Given the description of an element on the screen output the (x, y) to click on. 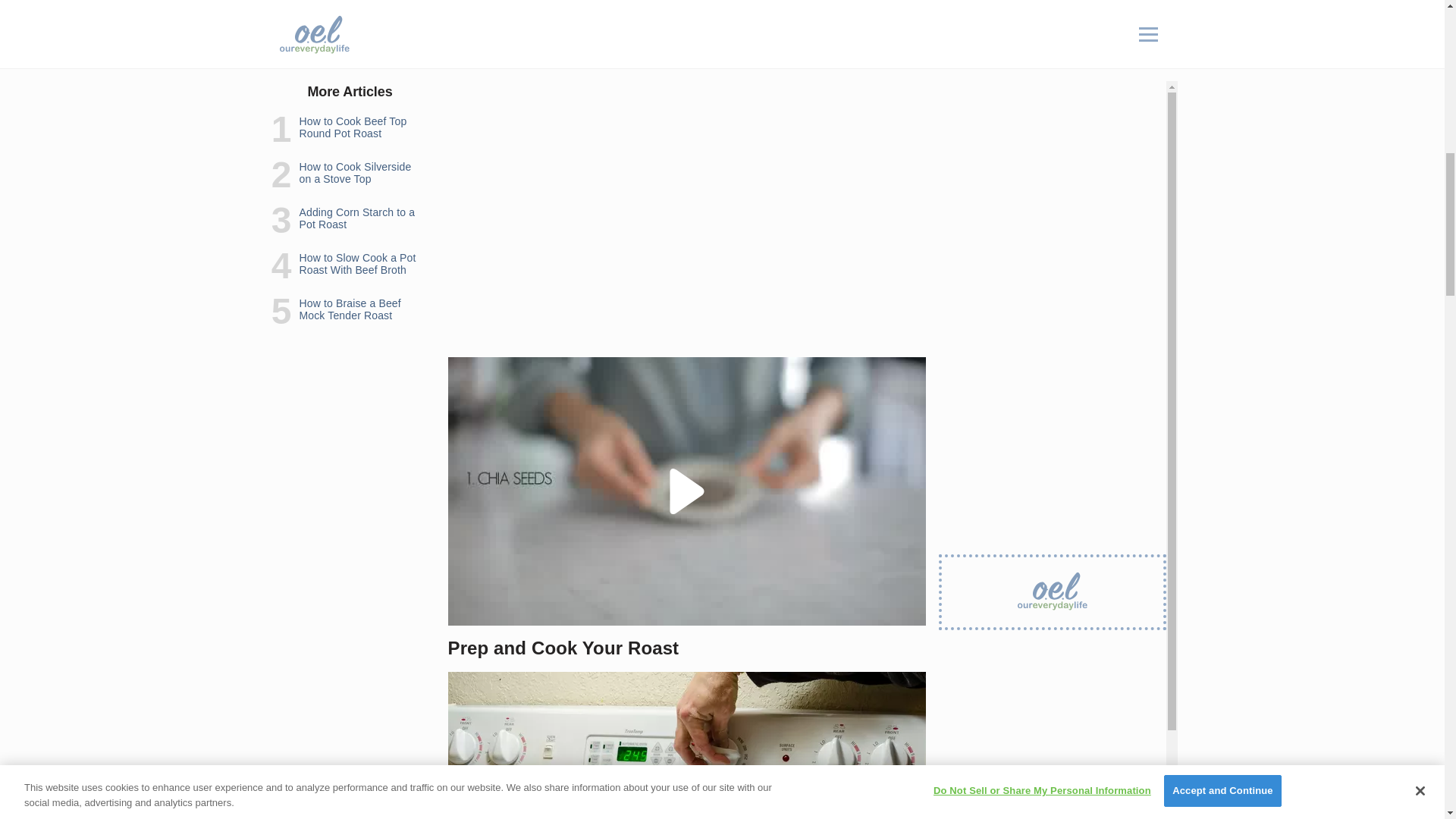
Advertisement (686, 238)
3rd party ad content (1052, 76)
3rd party ad content (686, 54)
